Given the description of an element on the screen output the (x, y) to click on. 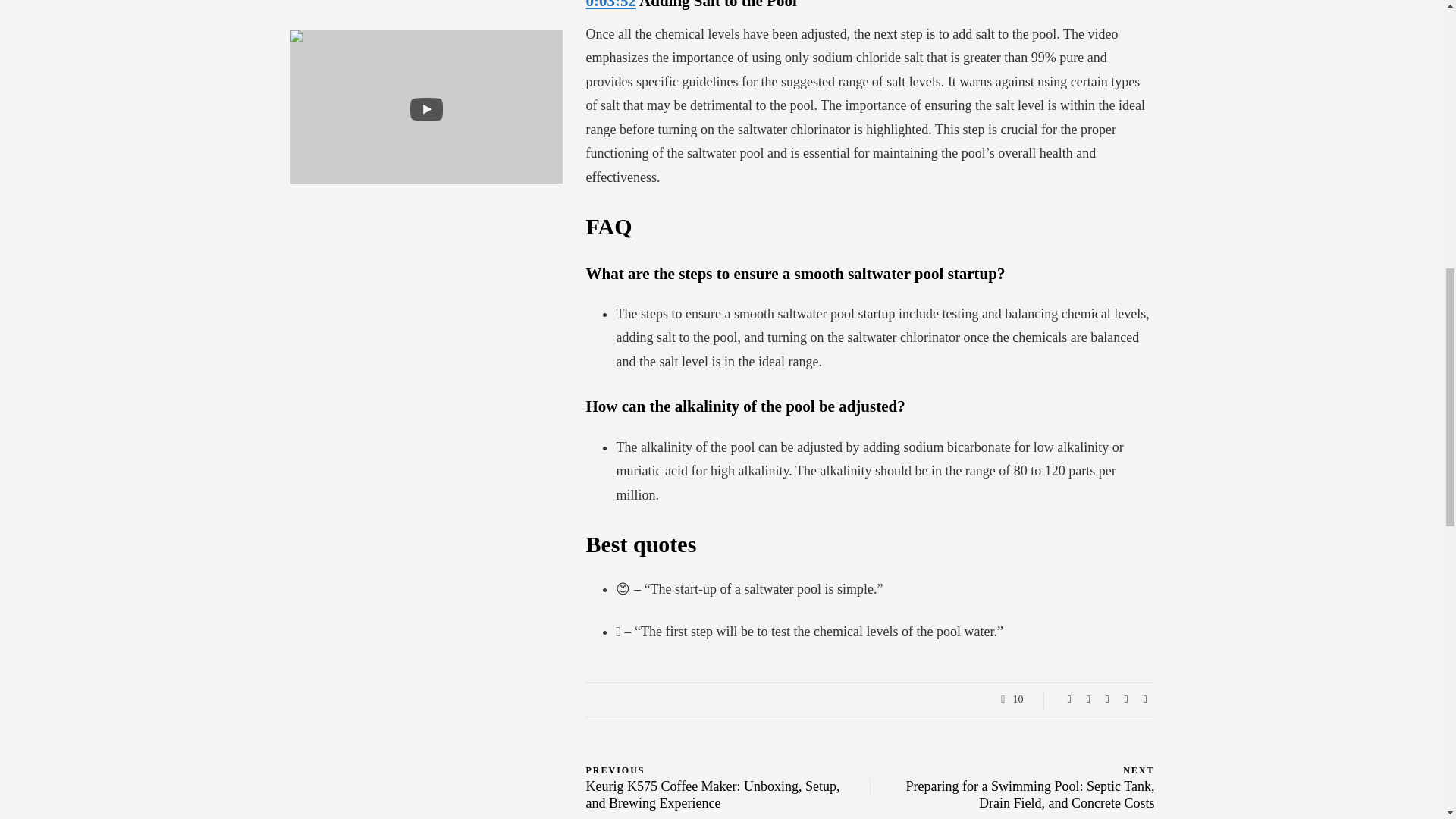
Share with LinkedIn (1106, 698)
Share with Facebook (1068, 698)
Share by Email (1144, 698)
0:03:52 (610, 4)
Pin this (1125, 698)
Tweet this (1087, 698)
